Given the description of an element on the screen output the (x, y) to click on. 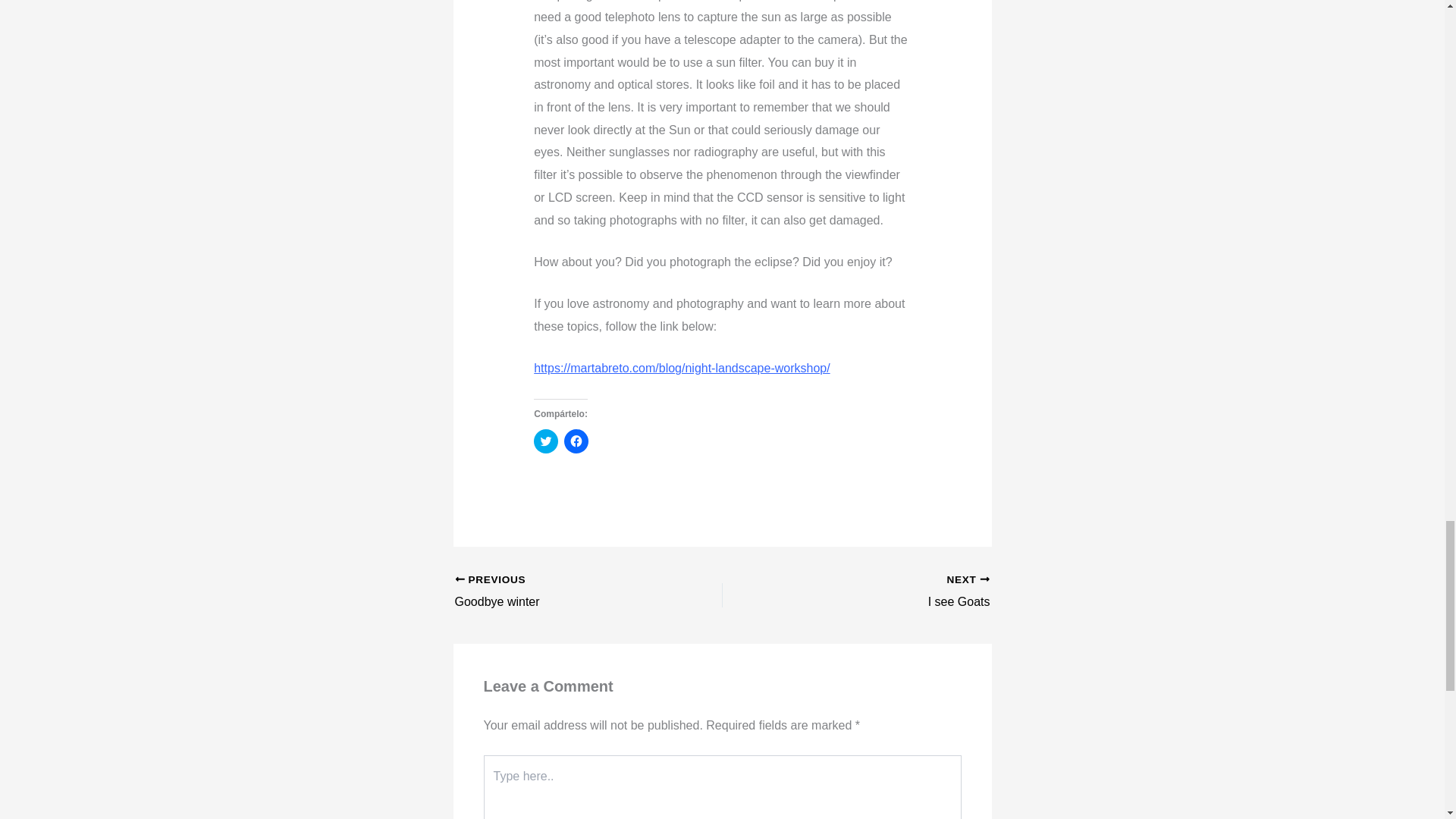
I see Goats (561, 591)
Click to share on Twitter (882, 591)
Click to share on Facebook (882, 591)
Goodbye winter (545, 441)
